Given the description of an element on the screen output the (x, y) to click on. 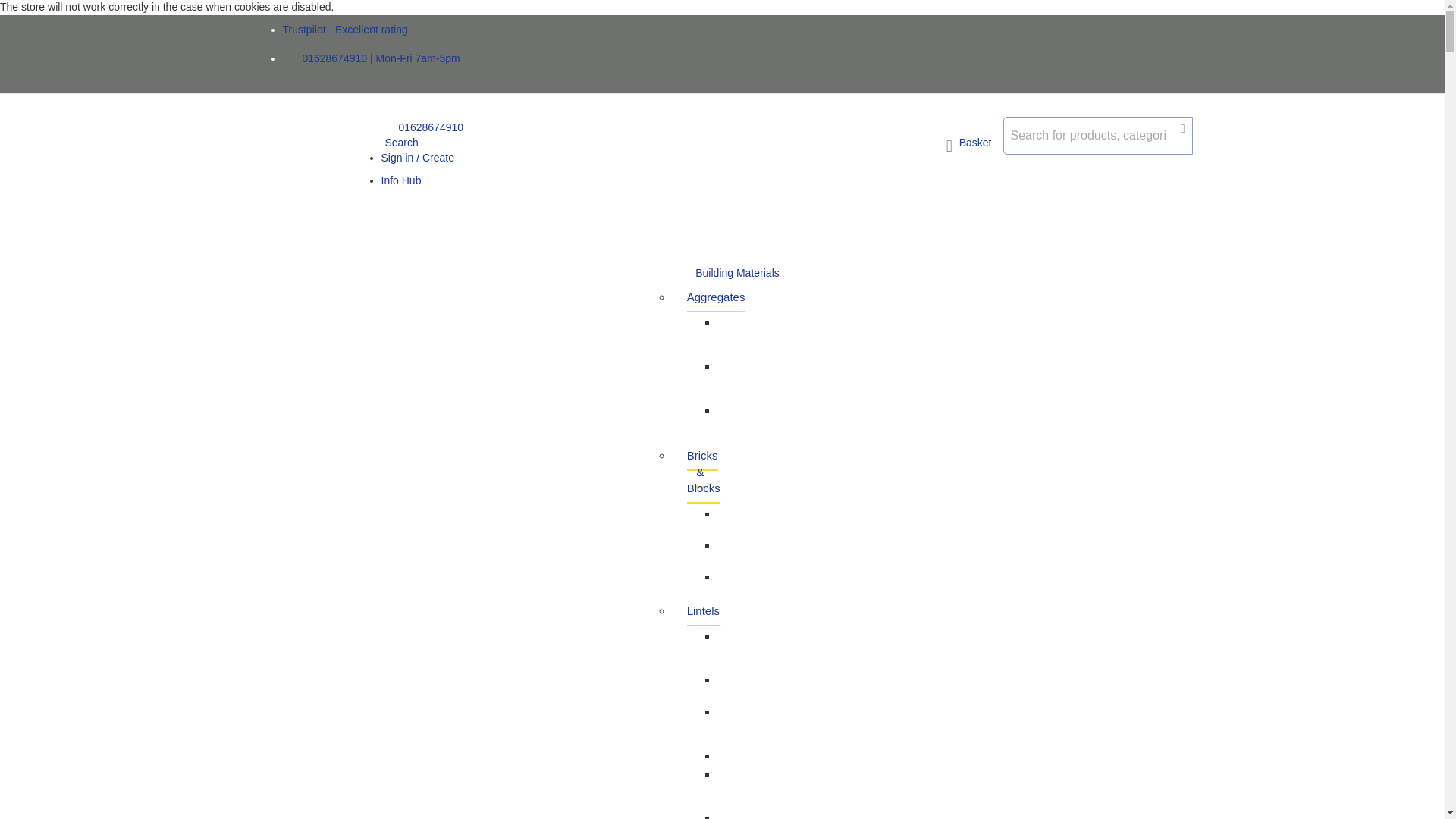
Concrete Blocks (739, 519)
Archformers (747, 755)
Basket (968, 146)
Building Materials Nationwide (315, 174)
Search (398, 142)
Concrete Lintel (739, 811)
01628674910 (421, 127)
Lintels (703, 611)
Trustpilot - Excellent rating (344, 29)
Engineering Brick (747, 550)
Aggregates (716, 297)
Building Materials (737, 273)
Info Hub (400, 180)
